Given the description of an element on the screen output the (x, y) to click on. 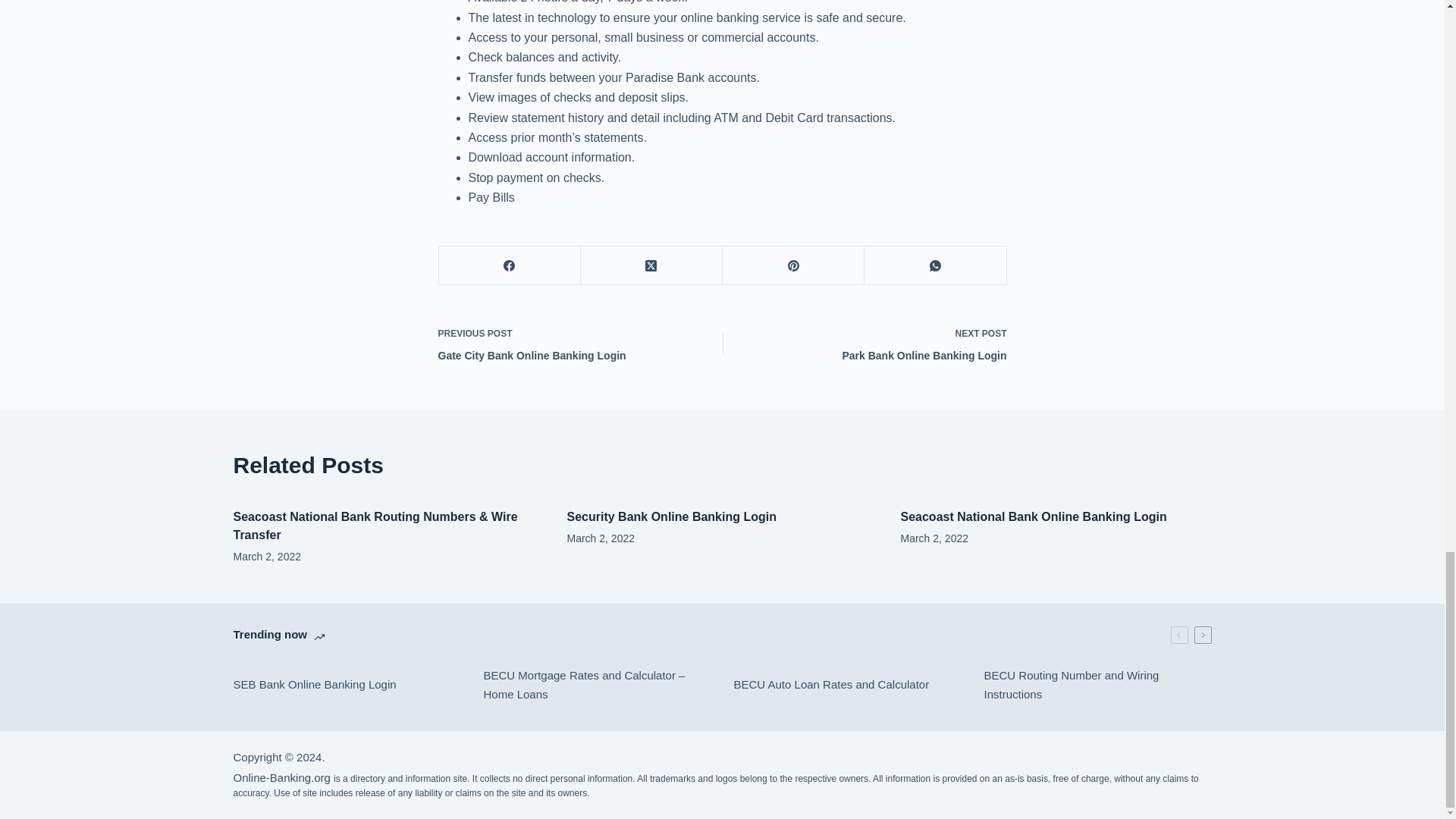
Security Bank Online Banking Login (671, 516)
SEB Bank Online Banking Login (346, 685)
BECU Routing Number and Wiring Instructions (1097, 685)
Online-Banking.org (569, 342)
Seacoast National Bank Online Banking Login (281, 777)
BECU Auto Loan Rates and Calculator (875, 342)
